Given the description of an element on the screen output the (x, y) to click on. 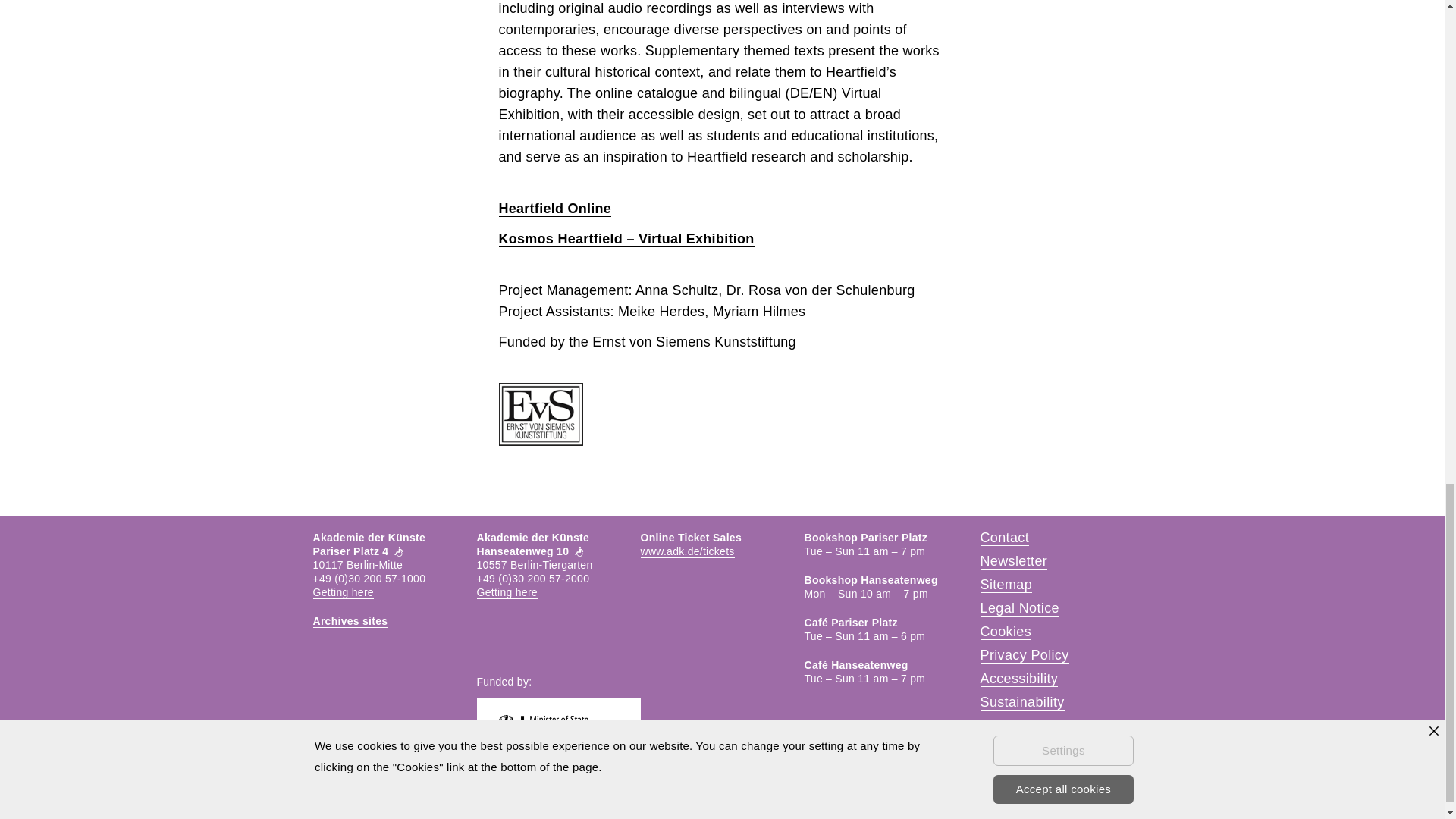
Location Pariser Platz (342, 592)
Heartfield Online (555, 208)
Location Hanseatenweg (506, 592)
Getting here (506, 592)
Archives sites (350, 621)
Getting here (342, 592)
